Given the description of an element on the screen output the (x, y) to click on. 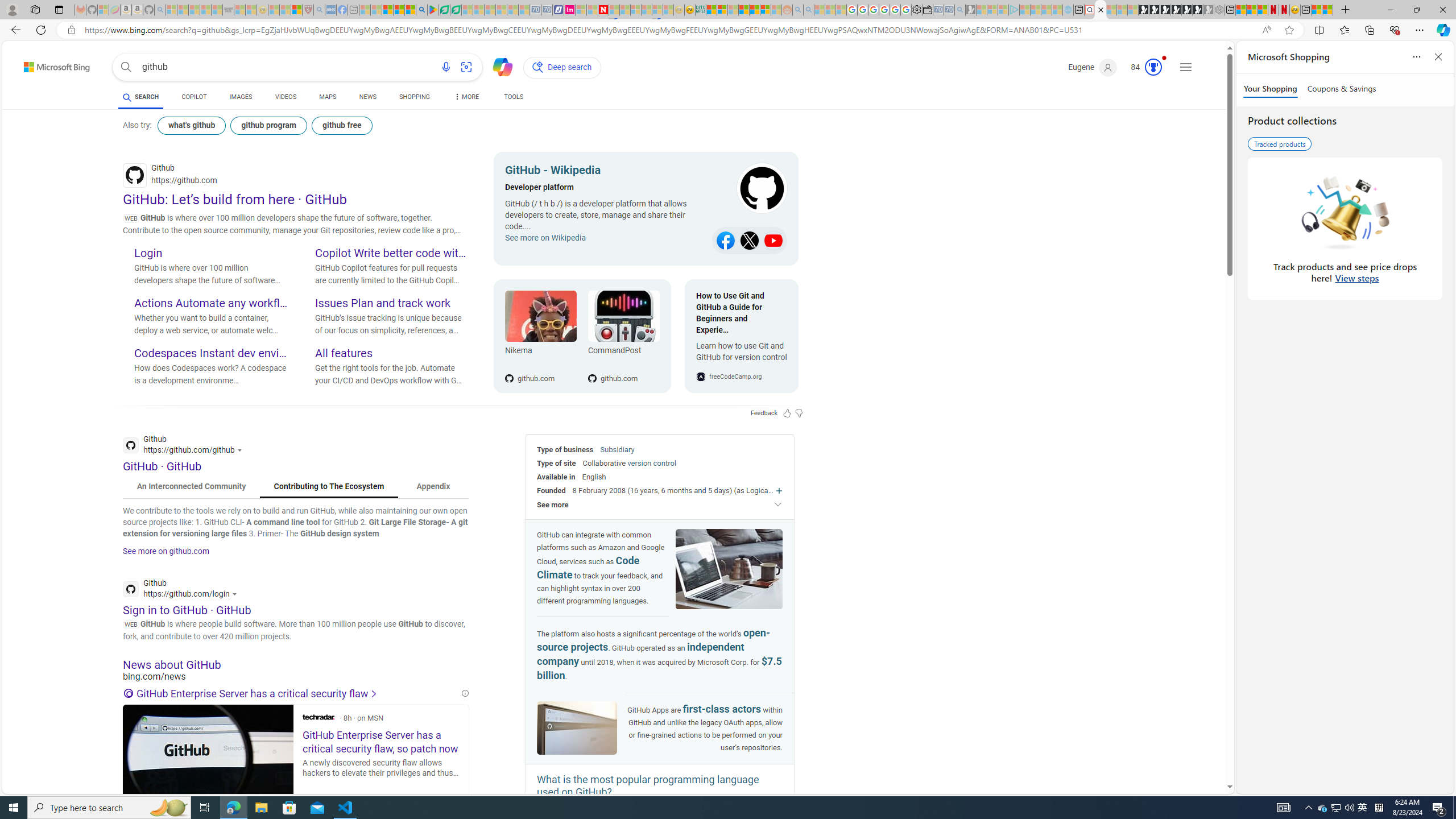
Chat (497, 65)
Home | Sky Blue Bikes - Sky Blue Bikes - Sleeping (1068, 9)
MAPS (327, 96)
COPILOT (193, 96)
SEARCH (140, 96)
News about GitHub (295, 664)
Combat Siege (228, 9)
Bing Real Estate - Home sales and rental listings - Sleeping (959, 9)
Search button (126, 66)
